Given the description of an element on the screen output the (x, y) to click on. 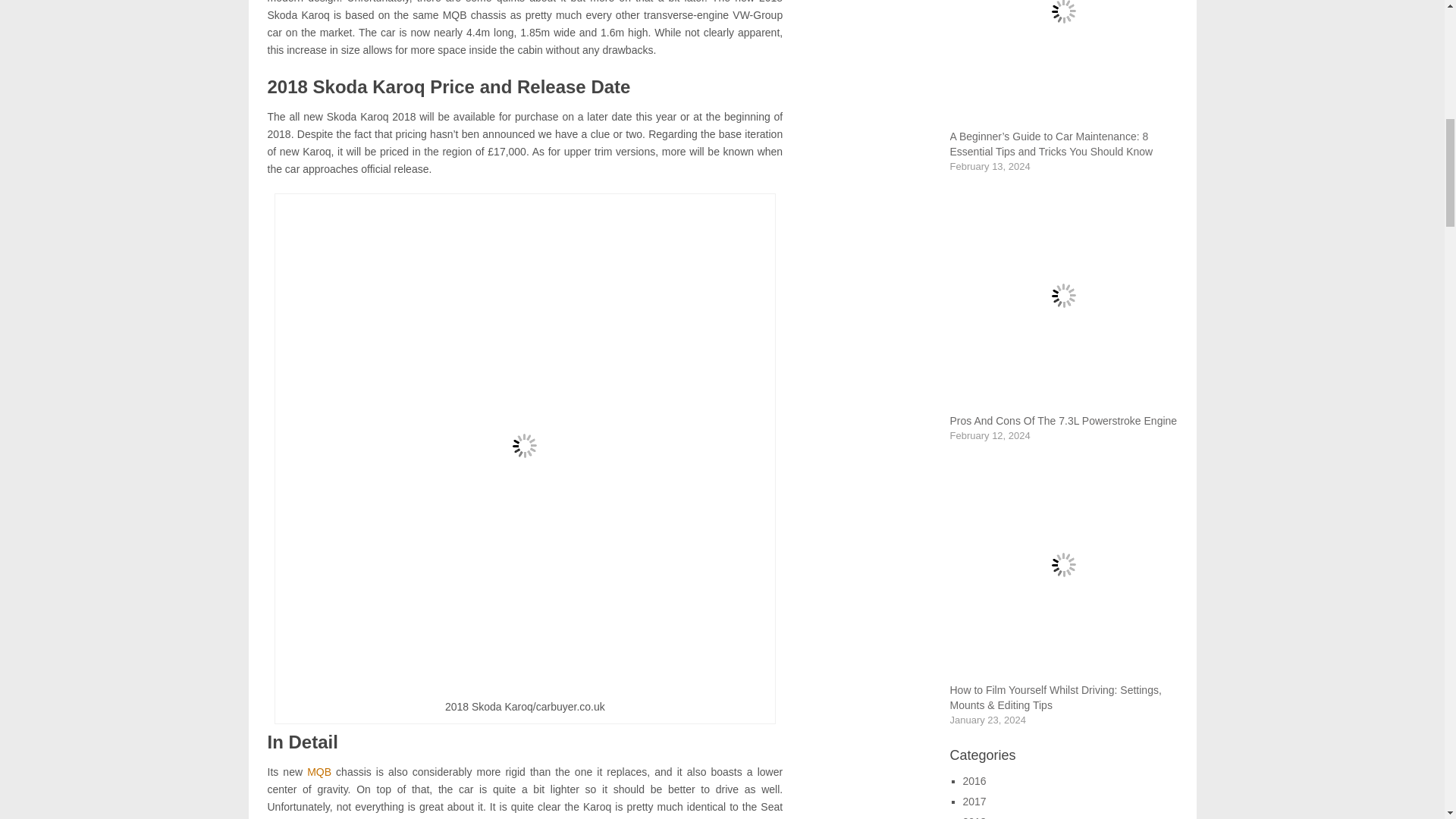
MQB (319, 771)
